Given the description of an element on the screen output the (x, y) to click on. 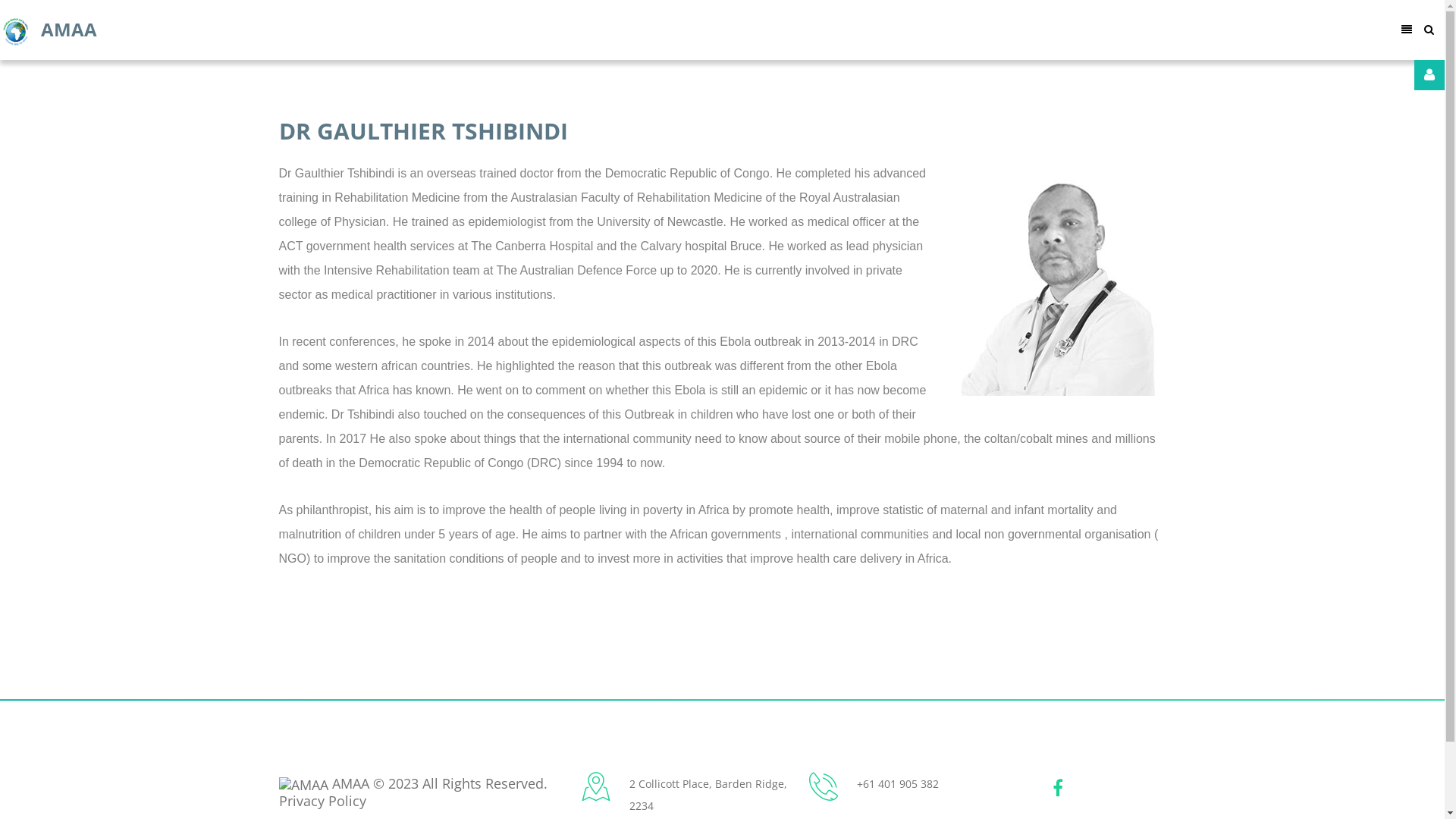
ABOUT Element type: text (371, 21)
AMAA Element type: text (48, 31)
PAGES Element type: text (448, 21)
Privacy Policy Element type: text (322, 800)
TEAM Element type: text (519, 21)
Facebook Element type: hover (1057, 787)
Log in Element type: text (1224, 319)
HOME Element type: text (297, 21)
